Given the description of an element on the screen output the (x, y) to click on. 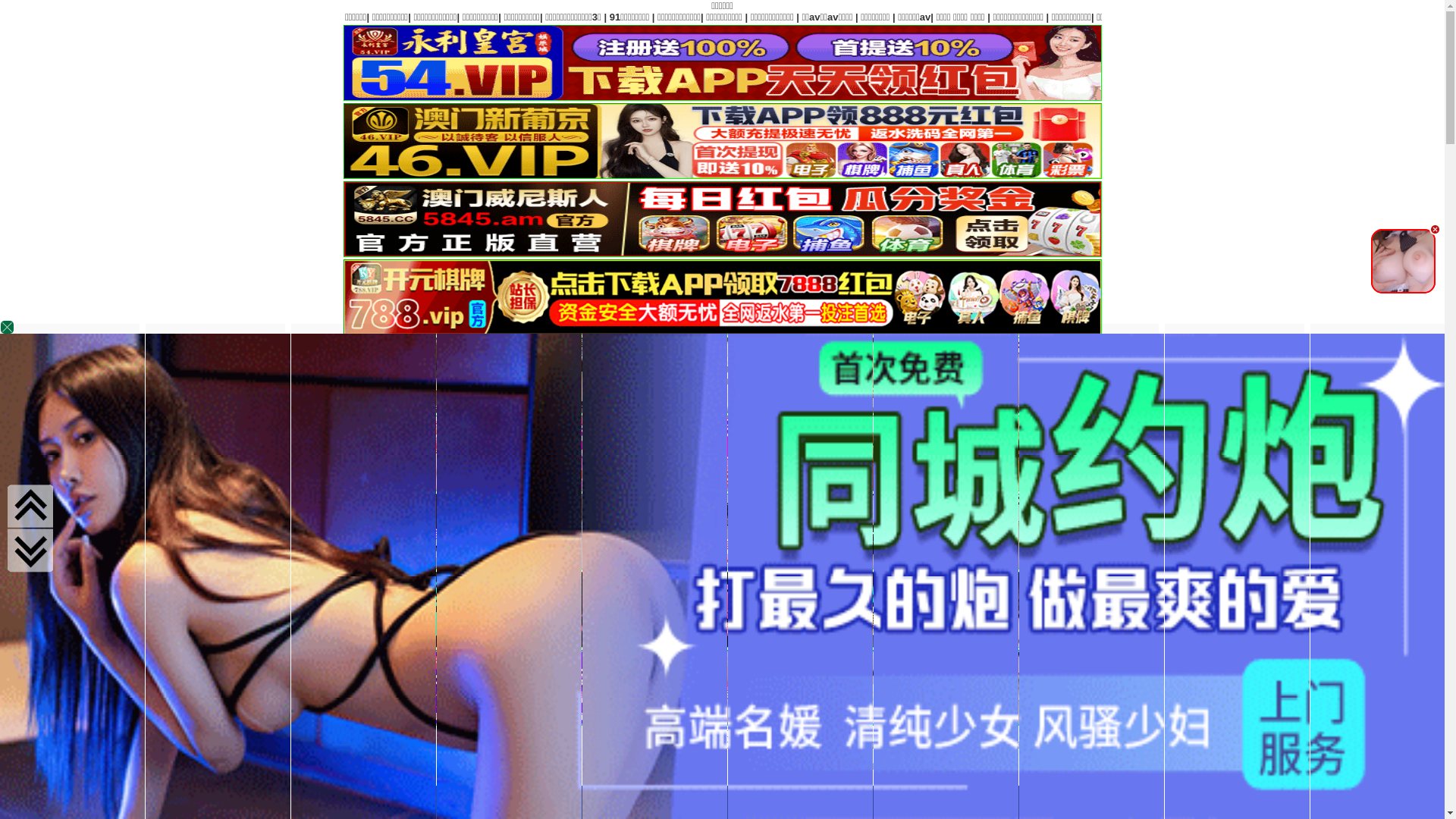
| Element type: text (98, 16)
| Element type: text (628, 16)
| Element type: text (518, 16)
| Element type: text (63, 16)
| Element type: text (333, 16)
| Element type: text (186, 16)
| Element type: text (158, 16)
| Element type: text (290, 16)
| Element type: text (130, 16)
| Element type: text (463, 16)
| Element type: text (359, 16)
| Element type: text (653, 16)
| Element type: text (560, 16)
| Element type: text (236, 16)
| Element type: text (19, 16)
| Element type: text (603, 16)
| Element type: text (675, 16)
| Element type: text (427, 16)
